Given the description of an element on the screen output the (x, y) to click on. 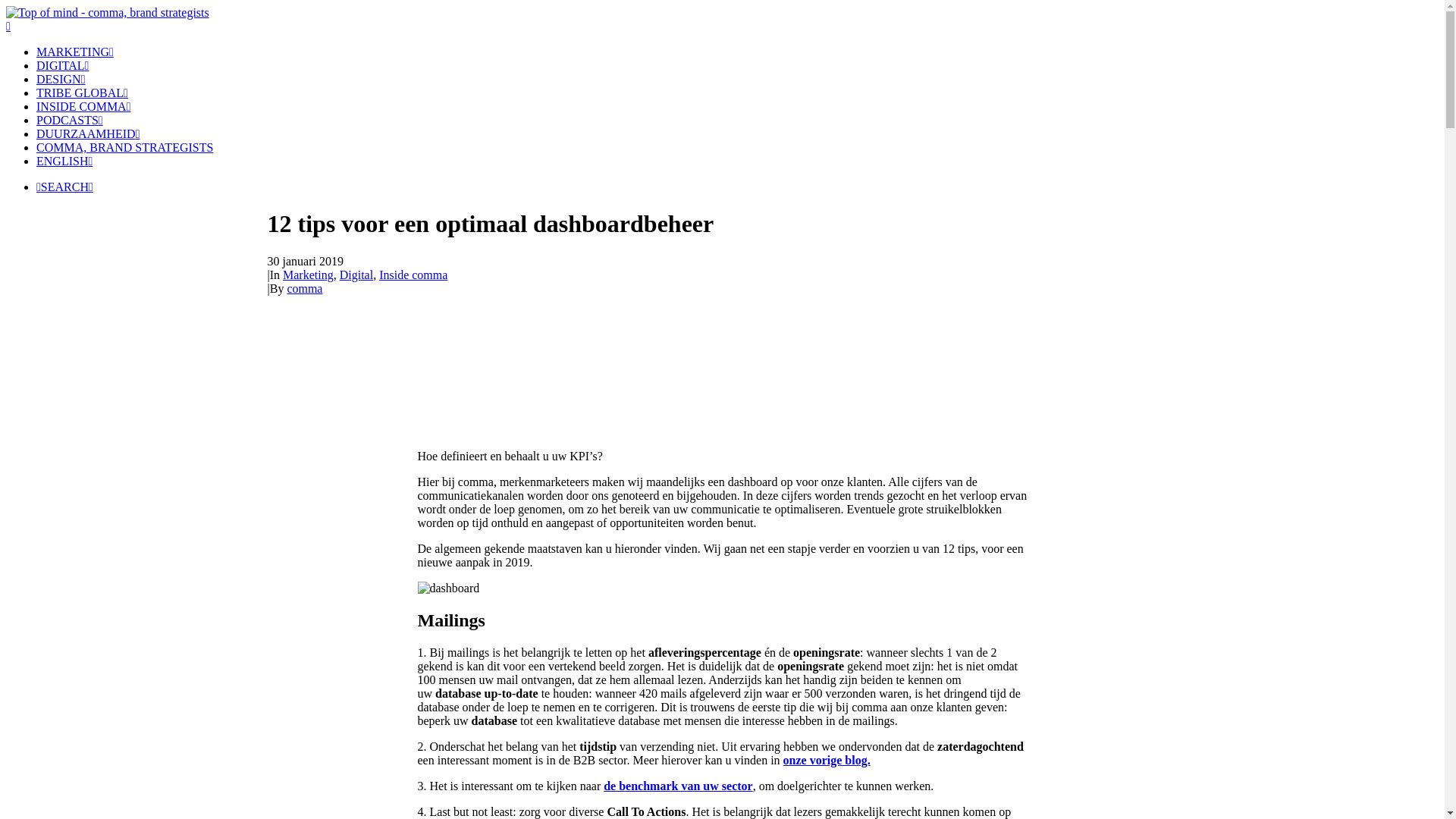
DIGITAL Element type: text (62, 65)
INSIDE COMMA Element type: text (83, 106)
TRIBE GLOBAL Element type: text (82, 92)
SEARCH Element type: text (64, 186)
comma Element type: text (304, 288)
COMMA, BRAND STRATEGISTS Element type: text (737, 147)
DUURZAAMHEID Element type: text (88, 133)
Digital Element type: text (356, 274)
onze vorige blog. Element type: text (826, 759)
DESIGN Element type: text (60, 78)
Marketing Element type: text (307, 274)
Inside comma Element type: text (413, 274)
MARKETING Element type: text (74, 51)
PODCASTS Element type: text (69, 119)
ENGLISH Element type: text (64, 160)
de benchmark van uw sector Element type: text (677, 785)
